Given the description of an element on the screen output the (x, y) to click on. 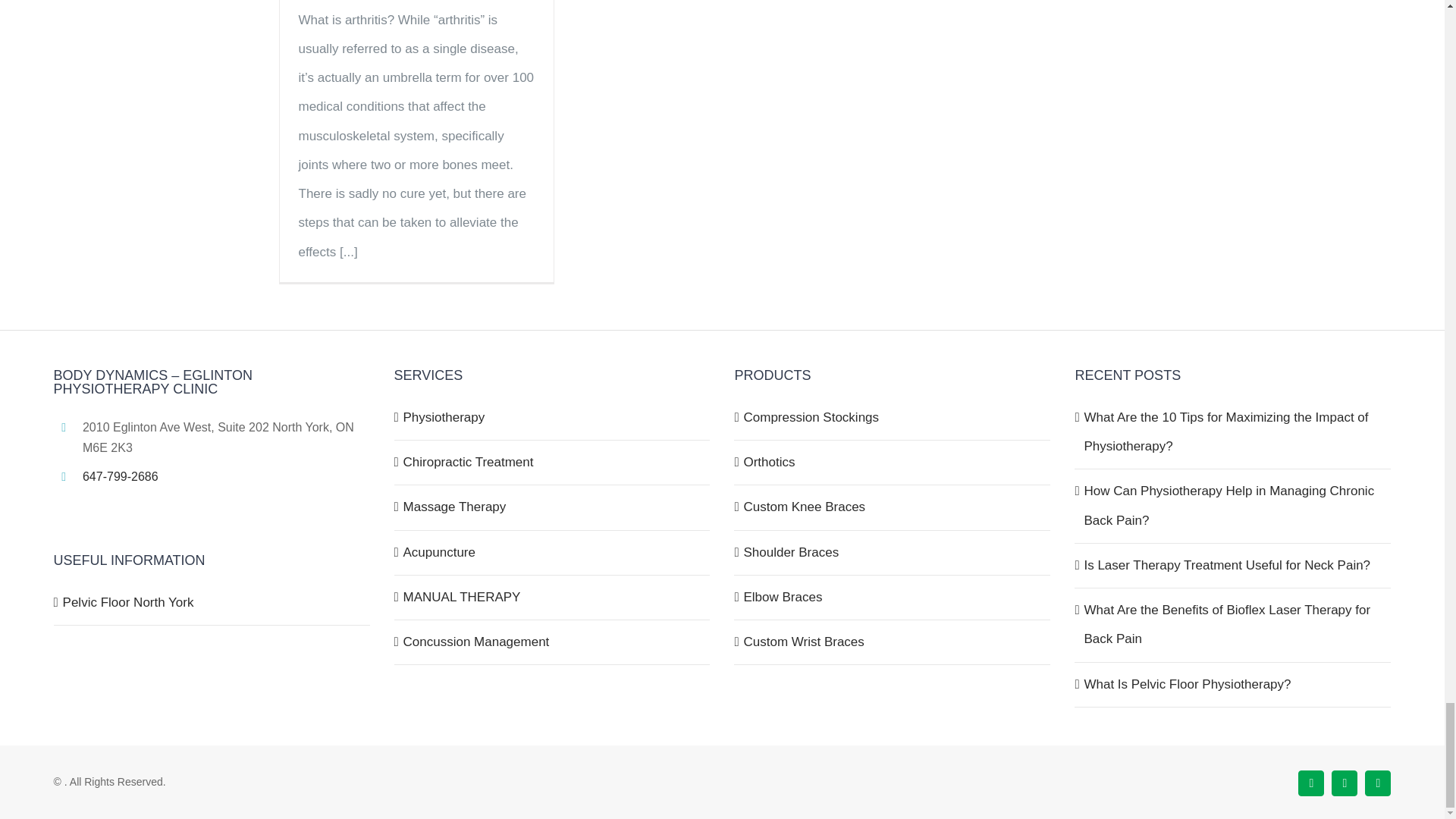
Pinterest (1377, 783)
Facebook (1310, 783)
Twitter (1344, 783)
